Given the description of an element on the screen output the (x, y) to click on. 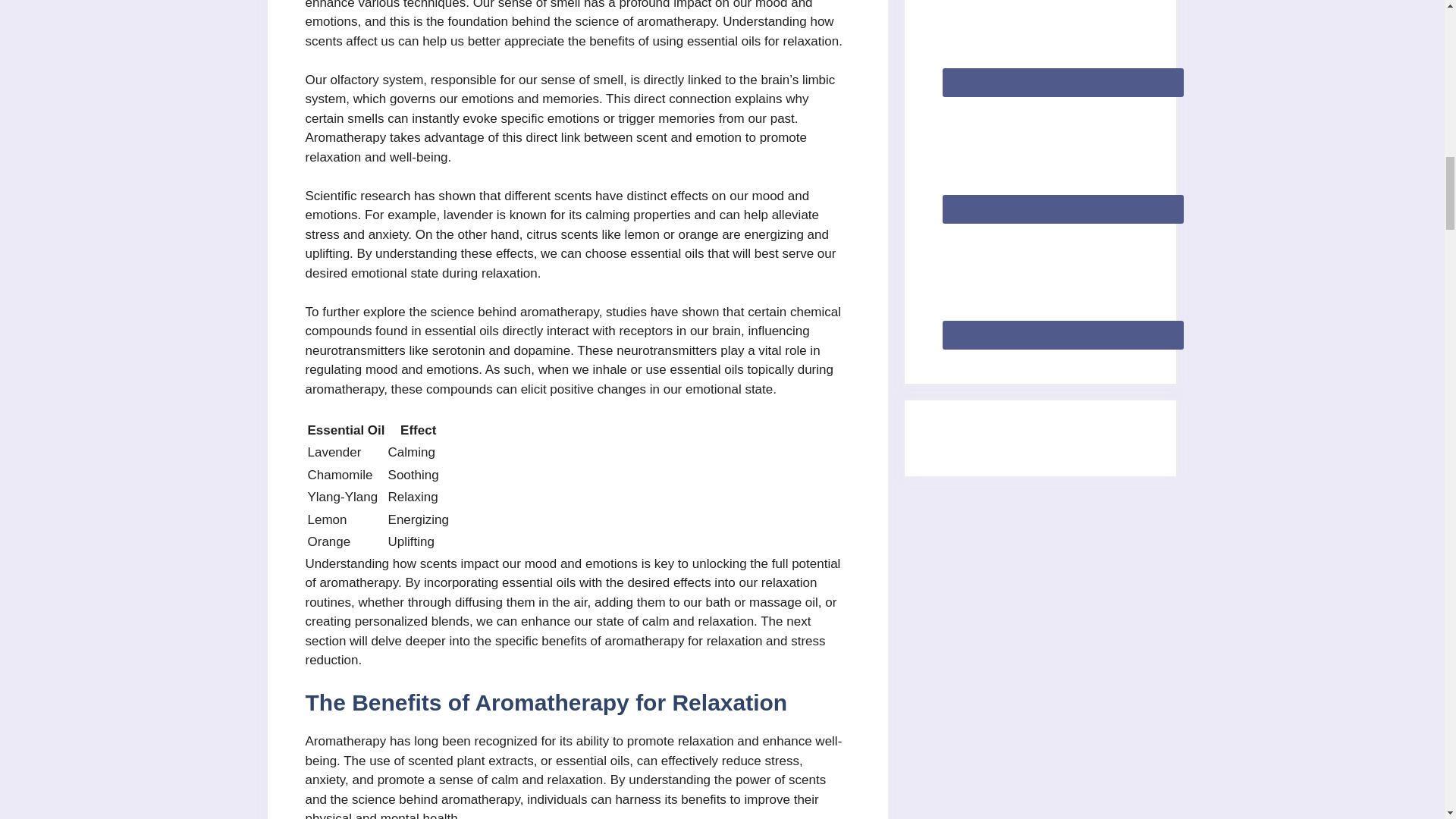
RSS (1062, 282)
Facebook (1062, 43)
Pinterest (1062, 156)
